Given the description of an element on the screen output the (x, y) to click on. 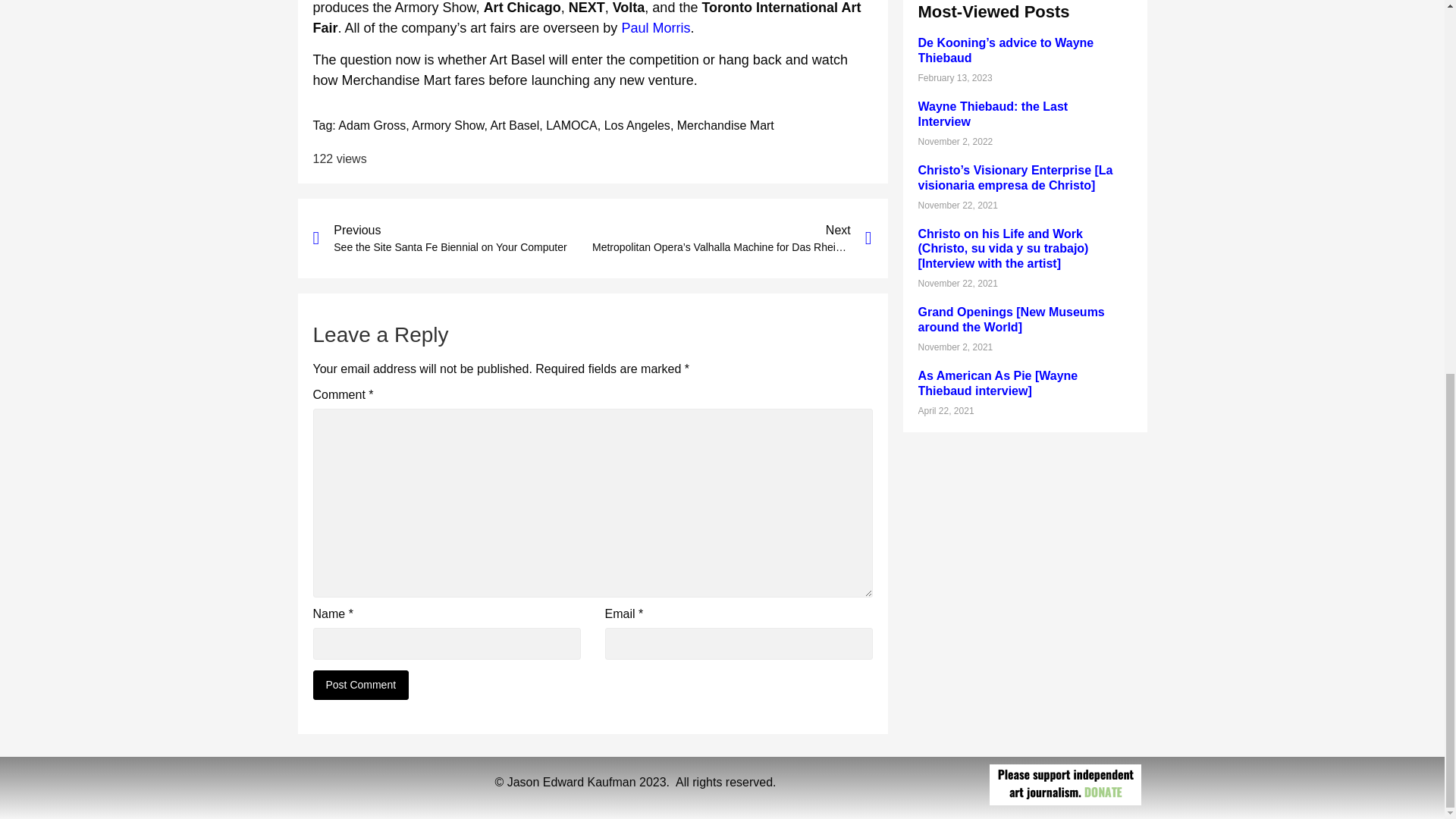
Armory Show (447, 124)
Adam Gross (371, 124)
PayPal - The safer, easier way to pay online! (1065, 784)
Post Comment (361, 685)
Merchandise Mart (725, 124)
Post Comment (361, 685)
LAMOCA (571, 124)
Paul Morris (653, 28)
Art Basel (452, 238)
